Given the description of an element on the screen output the (x, y) to click on. 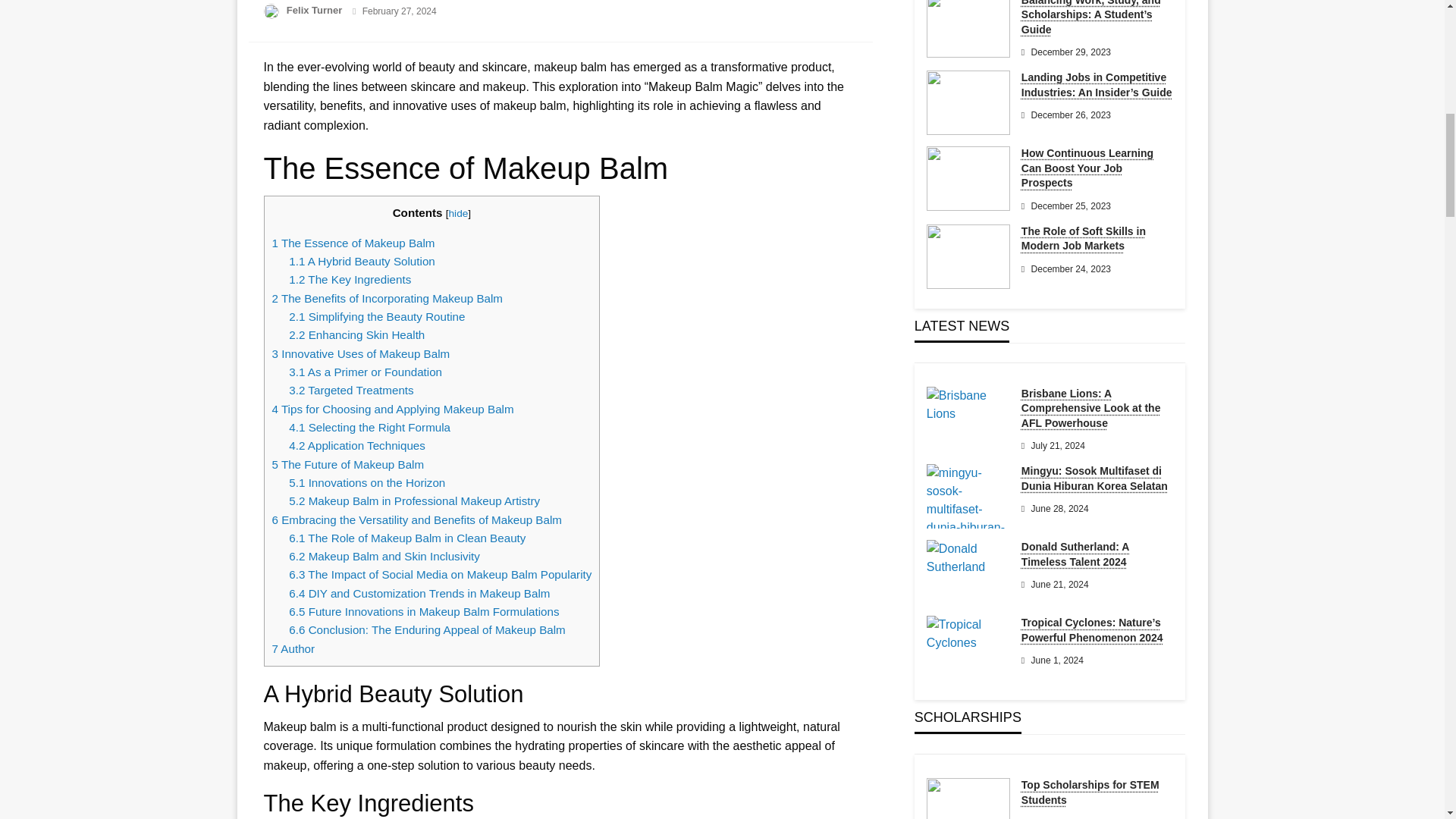
1.2 The Key Ingredients (349, 278)
2.2 Enhancing Skin Health (356, 334)
2 The Benefits of Incorporating Makeup Balm (386, 297)
1 The Essence of Makeup Balm (351, 242)
Felix Turner (315, 9)
2.1 Simplifying the Beauty Routine (376, 316)
February 27, 2024 (399, 10)
hide (458, 213)
Felix Turner (315, 9)
1.1 A Hybrid Beauty Solution (361, 260)
